Given the description of an element on the screen output the (x, y) to click on. 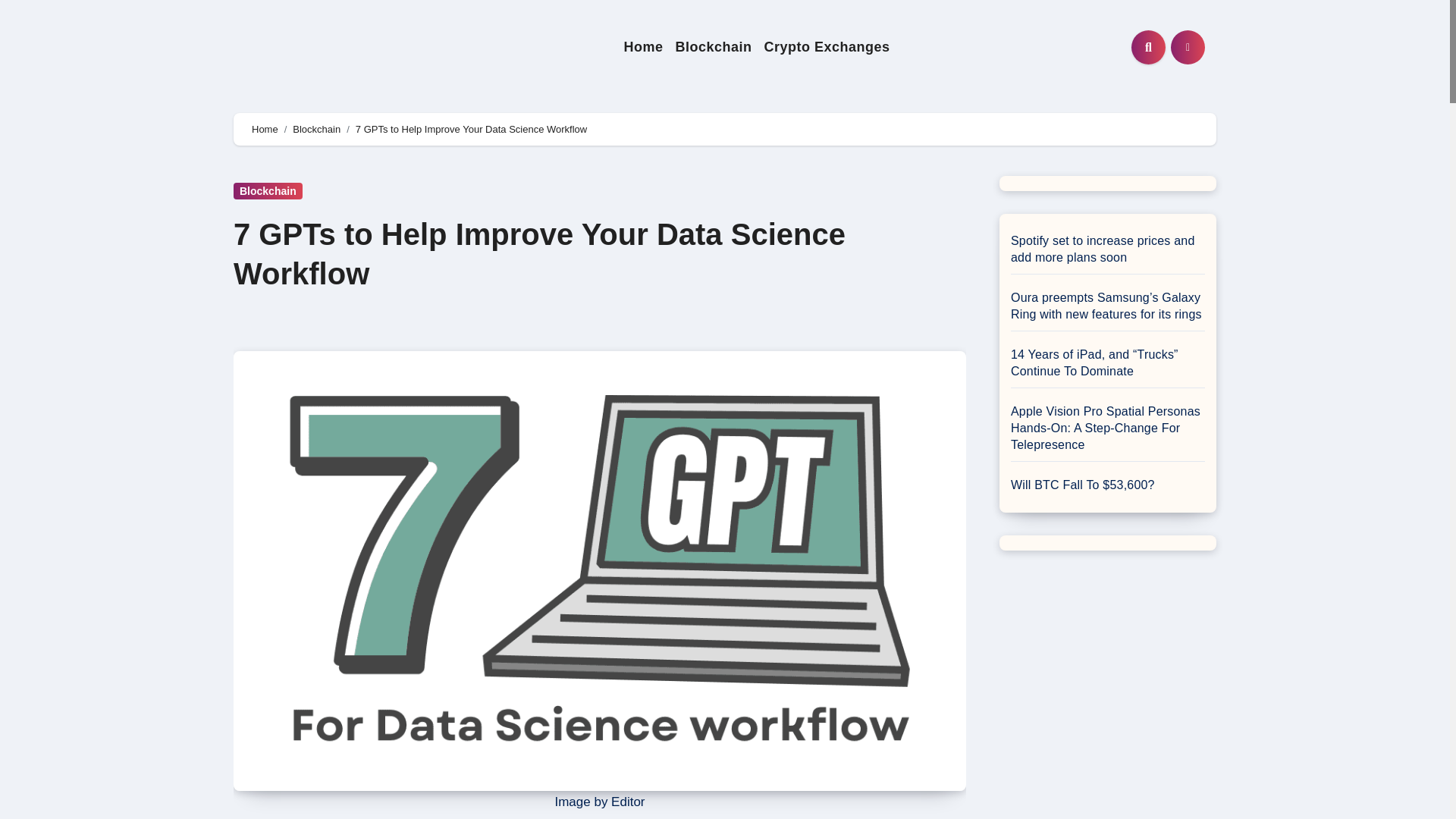
Home (264, 129)
7 GPTs to Help Improve Your Data Science Workflow (538, 253)
Blockchain (267, 190)
Blockchain (712, 47)
Home (642, 47)
Blockchain (316, 129)
Crypto Exchanges (826, 47)
Crypto Exchanges (826, 47)
Blockchain (712, 47)
Home (642, 47)
